Given the description of an element on the screen output the (x, y) to click on. 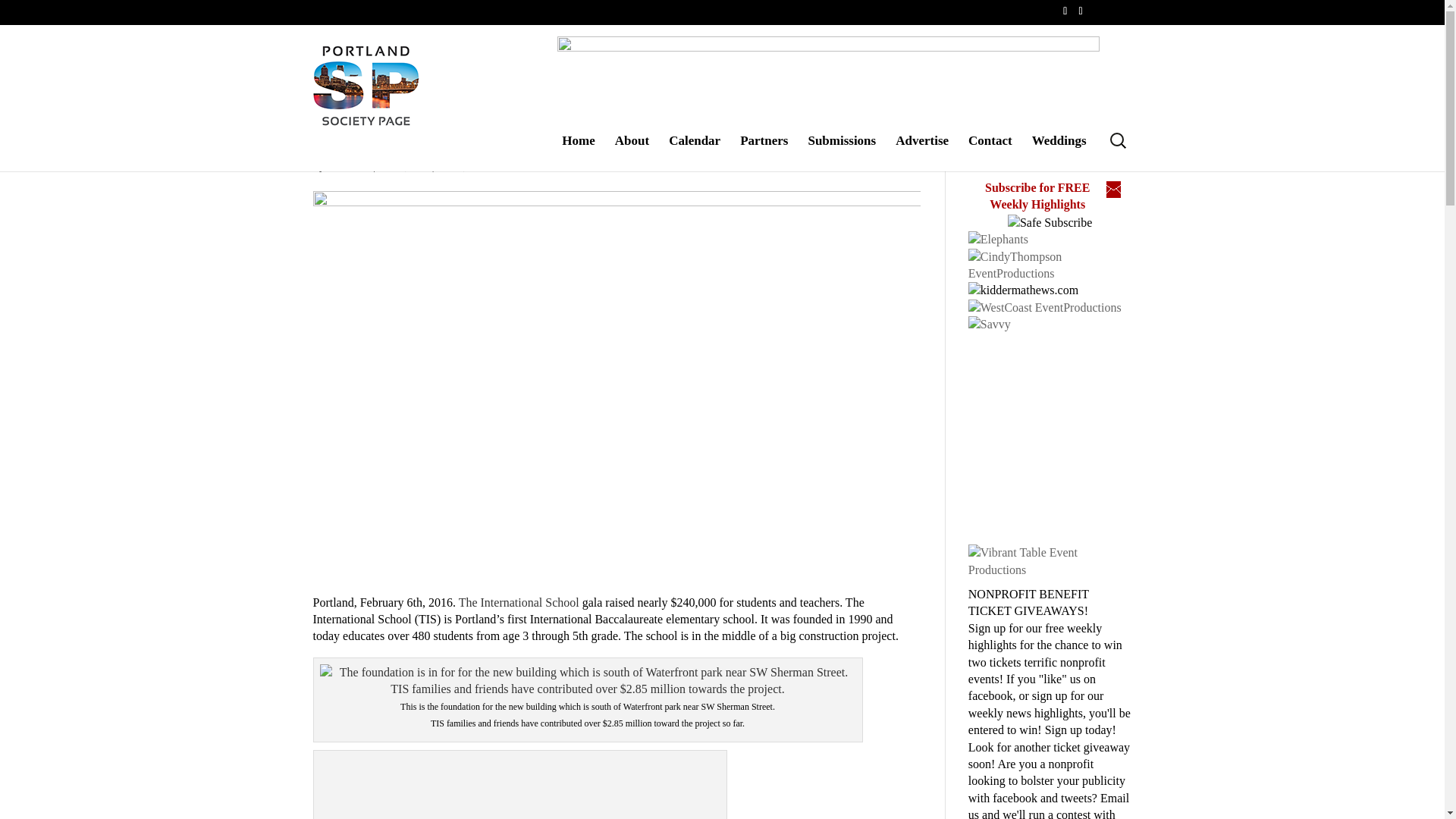
Advertise (922, 152)
Contact (989, 152)
The International School (518, 602)
Events (449, 165)
Elisa Klein (348, 165)
Weddings (1059, 152)
Features (483, 165)
Home (578, 152)
Search (19, 8)
Subscribe for FREE Weekly Highlights (1037, 195)
